Given the description of an element on the screen output the (x, y) to click on. 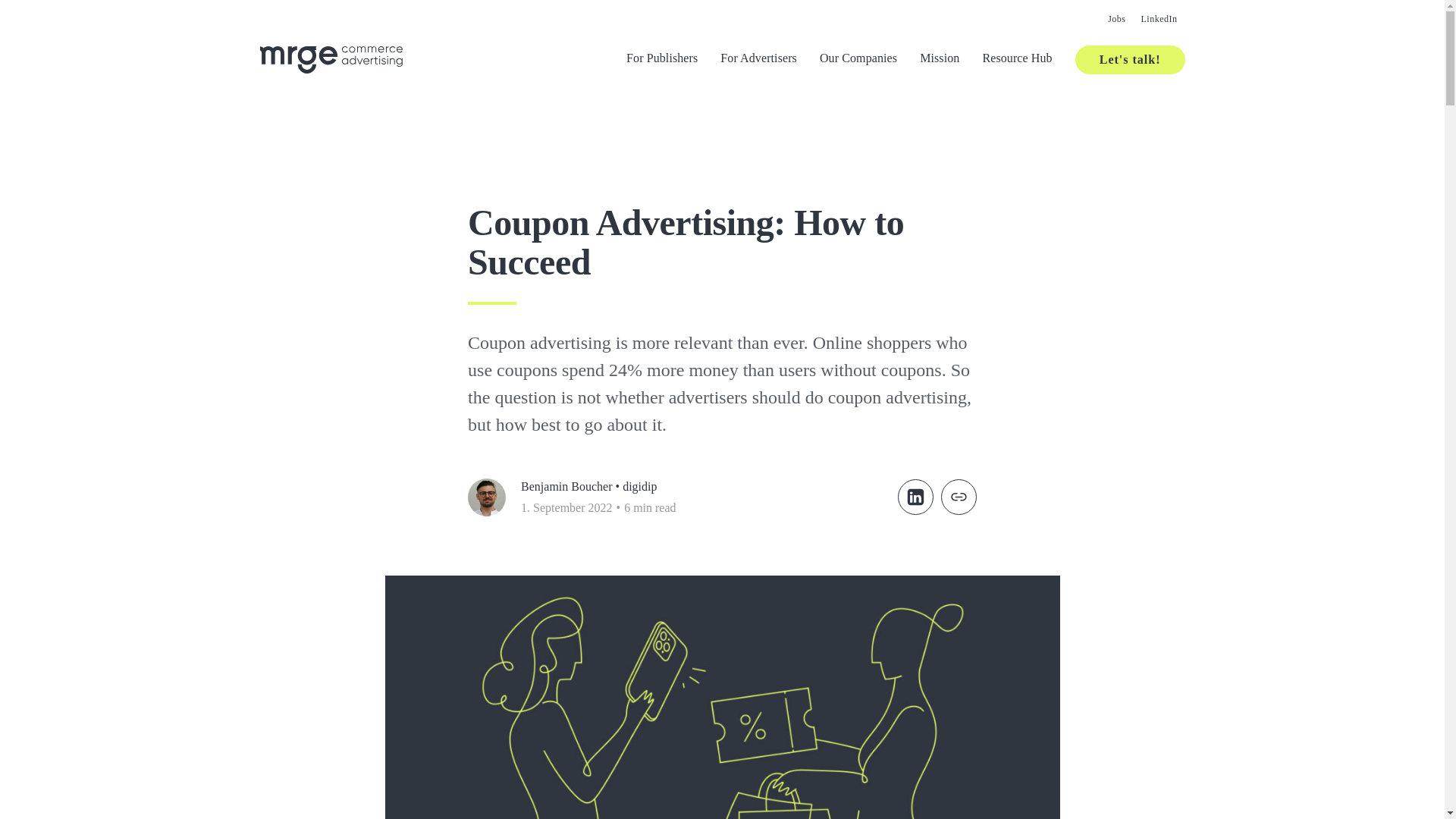
For Advertisers (758, 59)
For Publishers (661, 59)
Resource Hub (1016, 59)
LinkedIn (1158, 18)
Our Companies (857, 59)
Mission (939, 59)
Let's talk! (1130, 59)
